Given the description of an element on the screen output the (x, y) to click on. 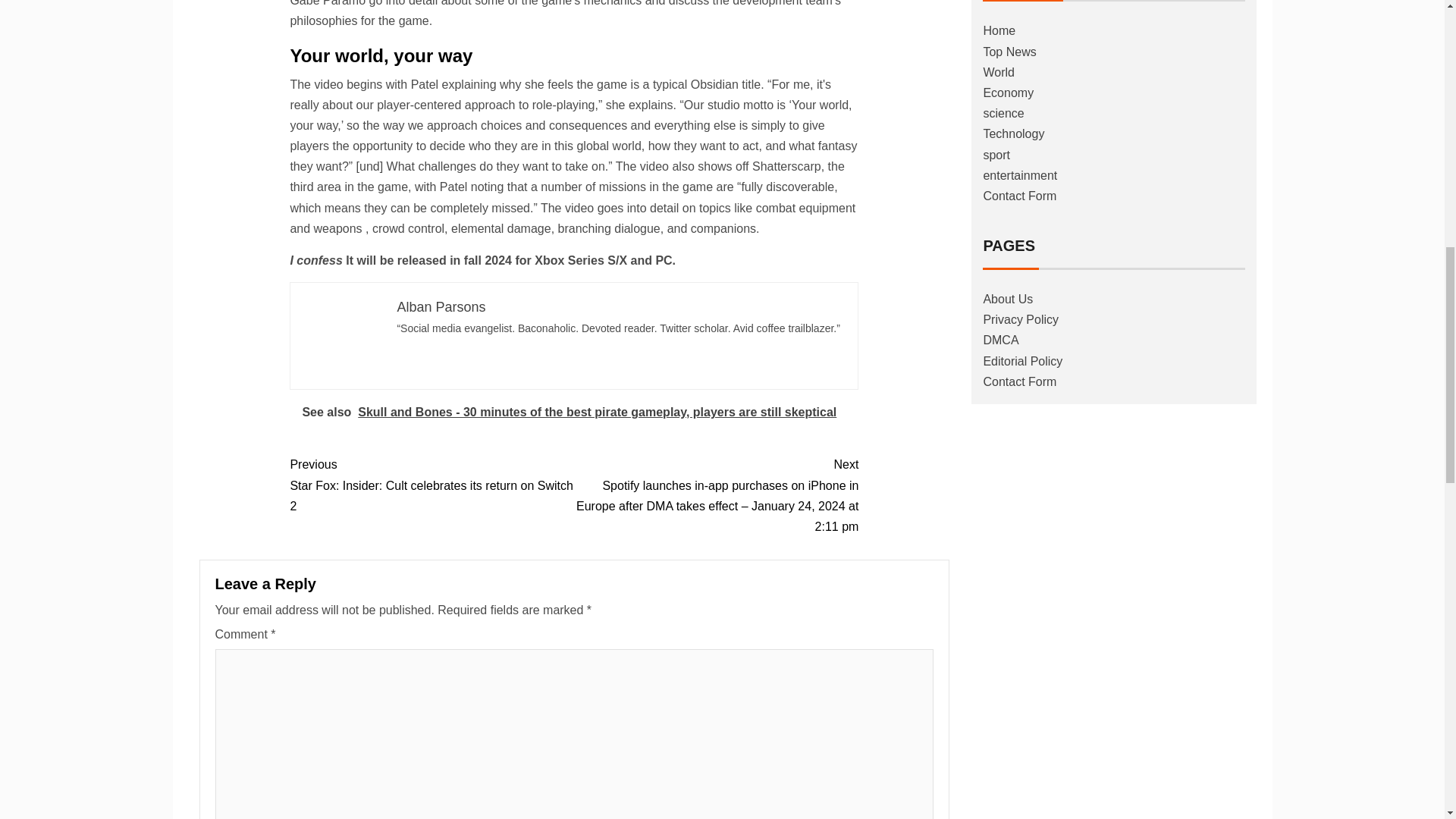
Alban Parsons (440, 306)
